Given the description of an element on the screen output the (x, y) to click on. 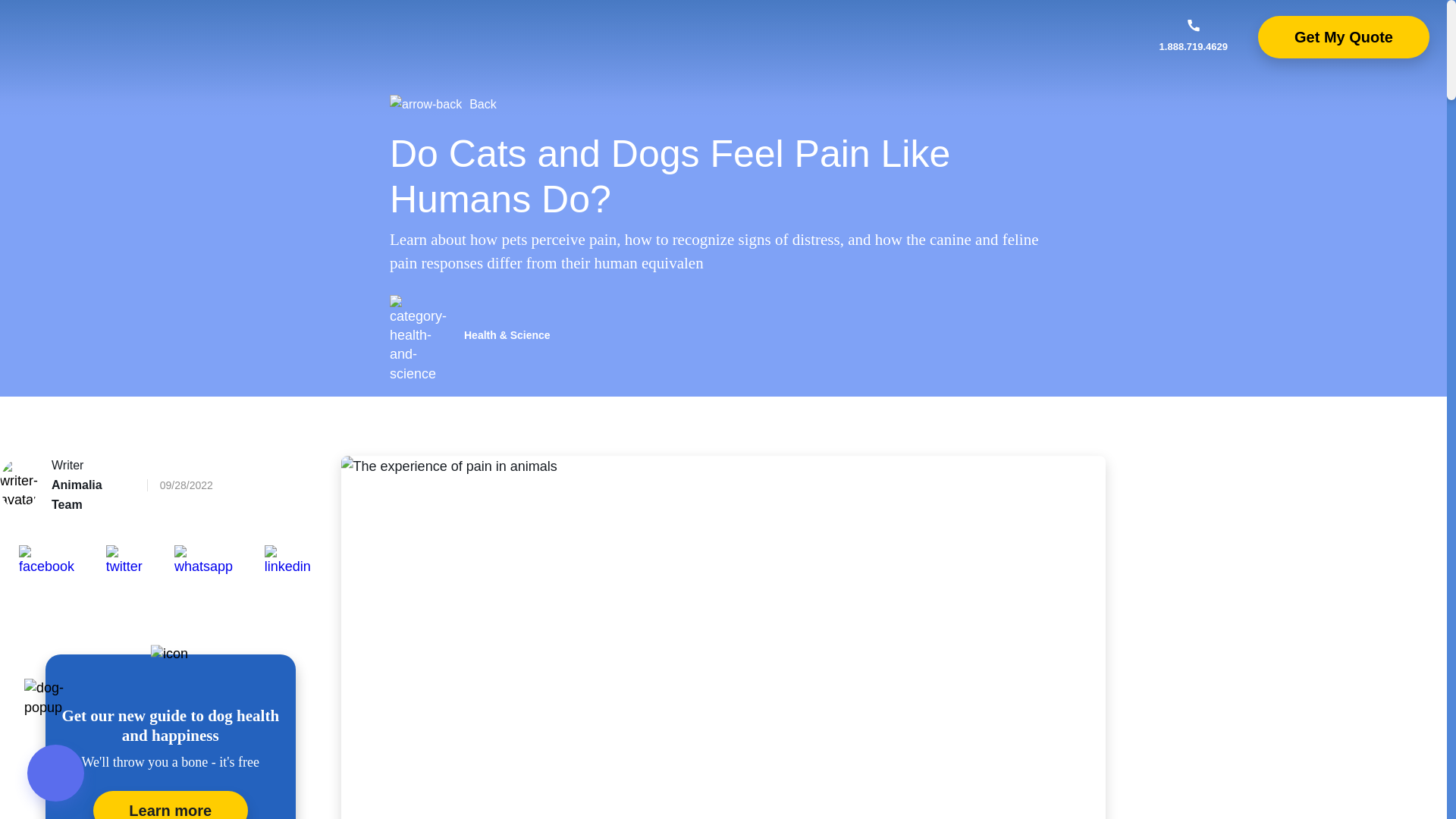
Get My Quote (1343, 36)
Back (723, 104)
Learn more (170, 805)
1.888.719.4629 (1192, 37)
